Given the description of an element on the screen output the (x, y) to click on. 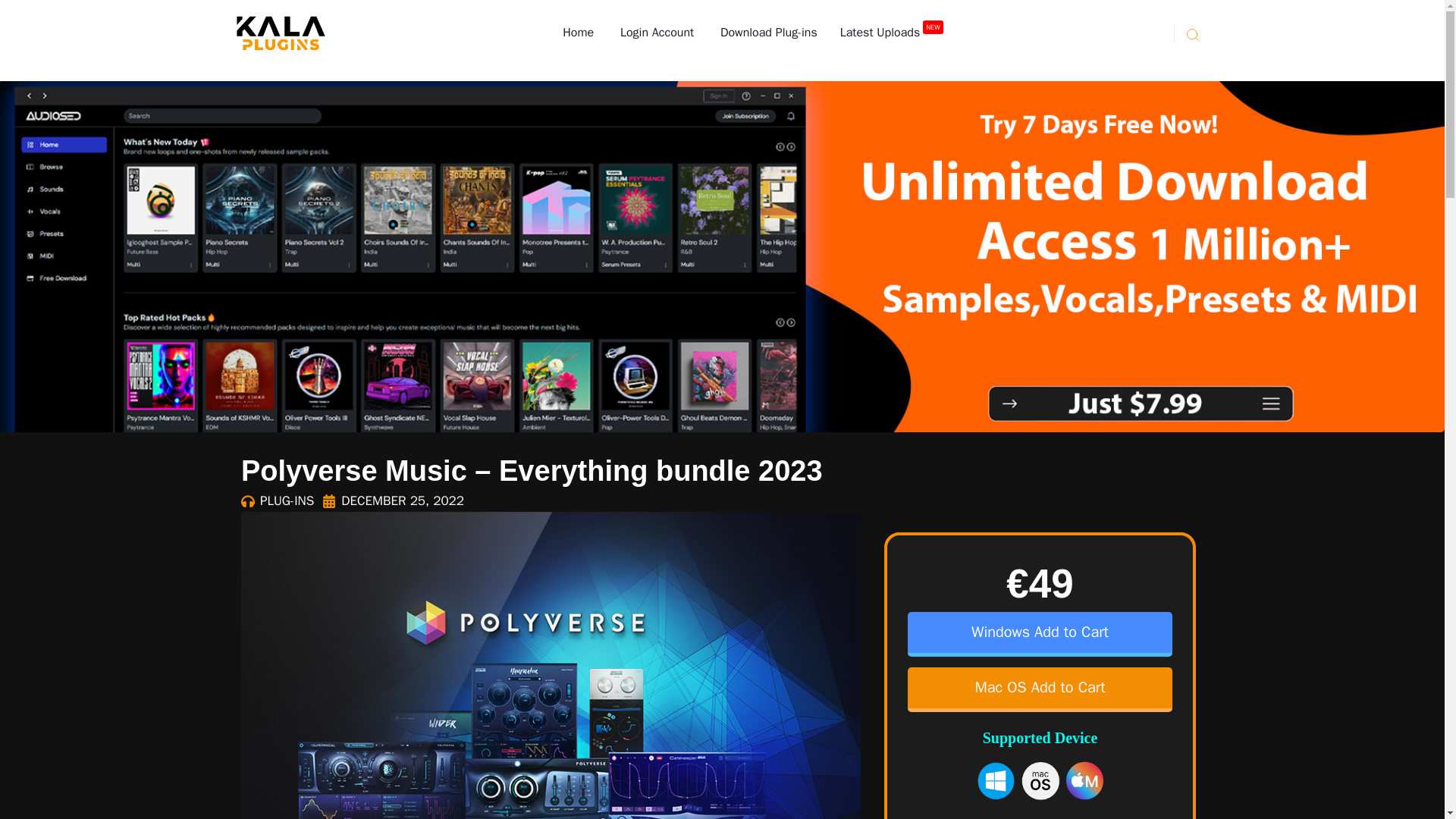
Login Account (654, 32)
Latest UploadsNEW (891, 33)
DECEMBER 25, 2022 (392, 500)
Windows Add to Cart (1039, 633)
Mac OS Add to Cart (1039, 689)
PLUG-INS (287, 500)
Download Plug-ins (766, 32)
